Given the description of an element on the screen output the (x, y) to click on. 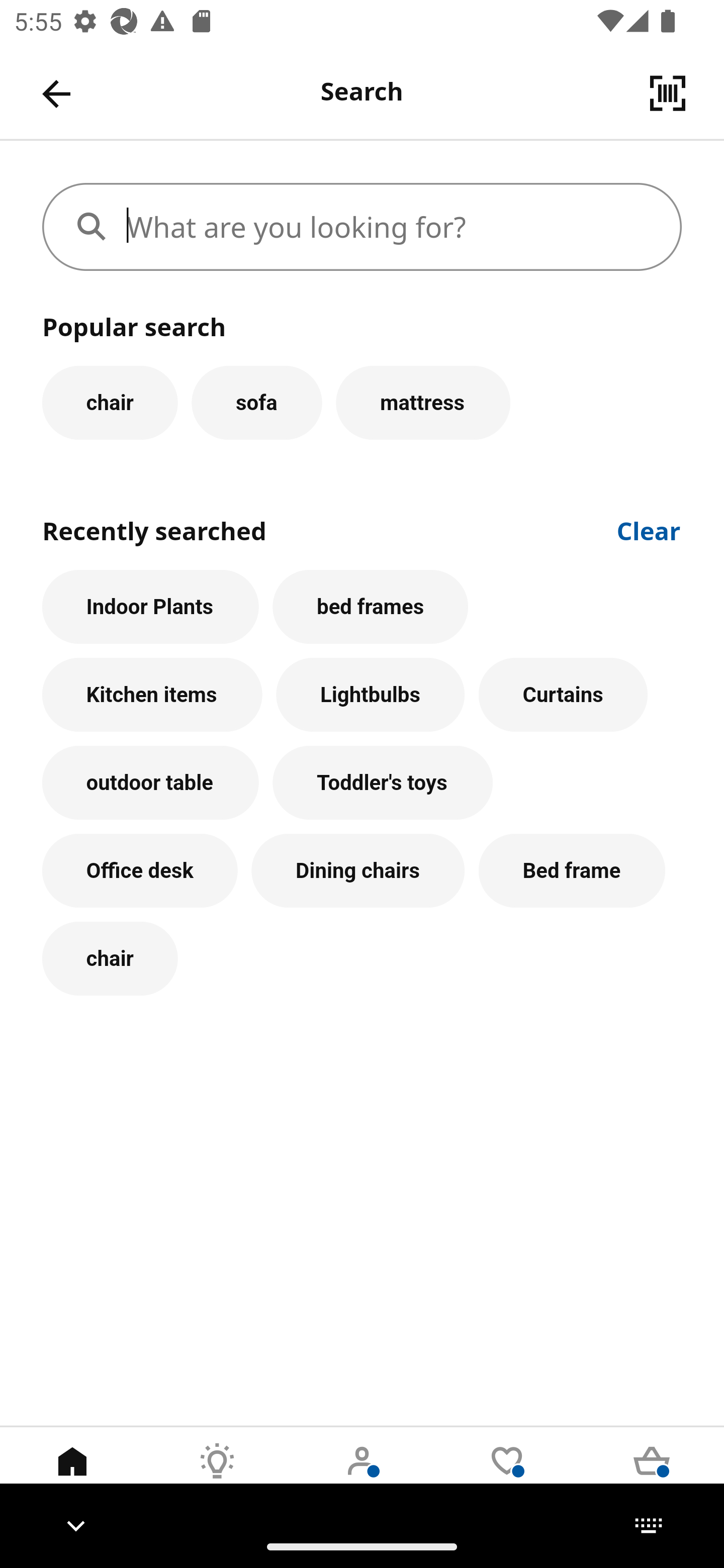
chair (109, 402)
sofa (256, 402)
mattress (423, 402)
Clear (649, 528)
Indoor Plants (150, 606)
bed frames (370, 606)
Kitchen items (151, 695)
Lightbulbs (370, 695)
Curtains (562, 695)
outdoor table (150, 783)
Toddler's toys (382, 783)
Office desk (139, 870)
Dining chairs (357, 870)
Bed frame (571, 870)
chair (109, 958)
Home
Tab 1 of 5 (72, 1476)
Inspirations
Tab 2 of 5 (216, 1476)
